Given the description of an element on the screen output the (x, y) to click on. 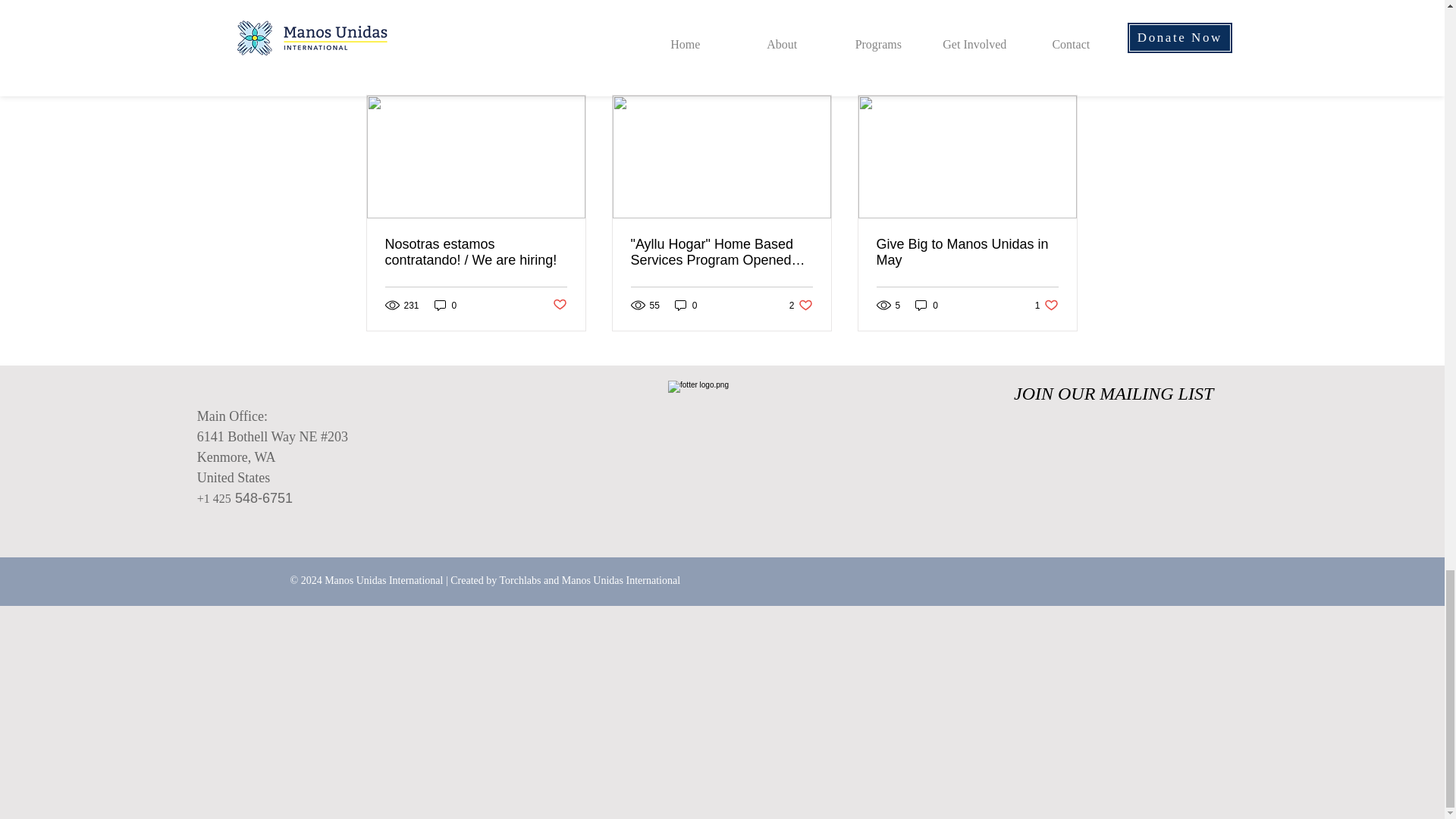
See All (1061, 68)
0 (685, 305)
0 (445, 305)
Post not marked as liked (558, 304)
Give Big to Manos Unidas in May (967, 252)
0 (800, 305)
